Given the description of an element on the screen output the (x, y) to click on. 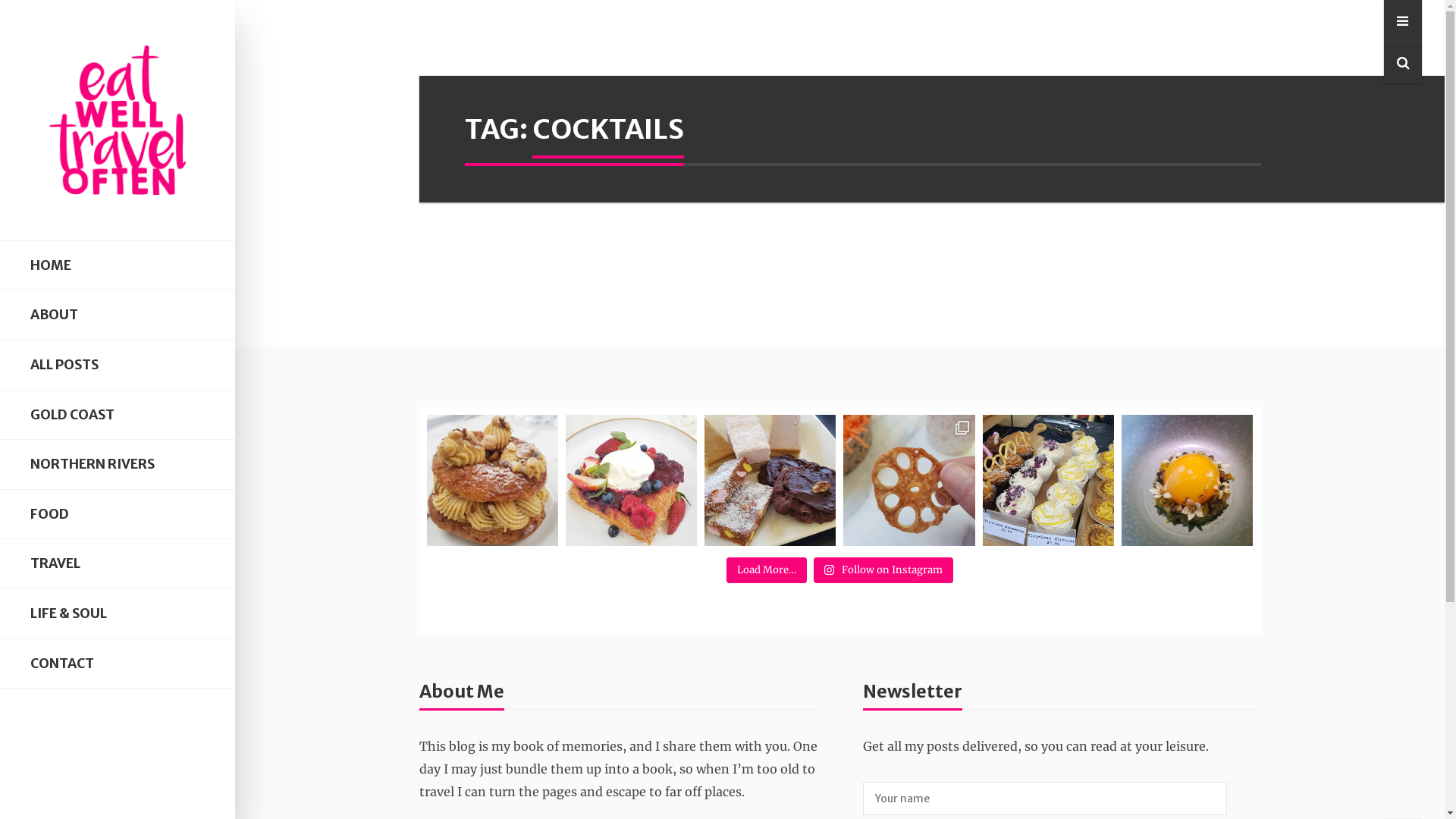
CONTACT Element type: text (117, 663)
TRAVEL Element type: text (117, 563)
Follow on Instagram Element type: text (883, 570)
ALL POSTS Element type: text (117, 364)
ABOUT Element type: text (117, 314)
HOME Element type: text (117, 265)
NORTHERN RIVERS Element type: text (117, 464)
GOLD COAST Element type: text (117, 414)
LIFE & SOUL Element type: text (117, 613)
FOOD Element type: text (117, 514)
